Given the description of an element on the screen output the (x, y) to click on. 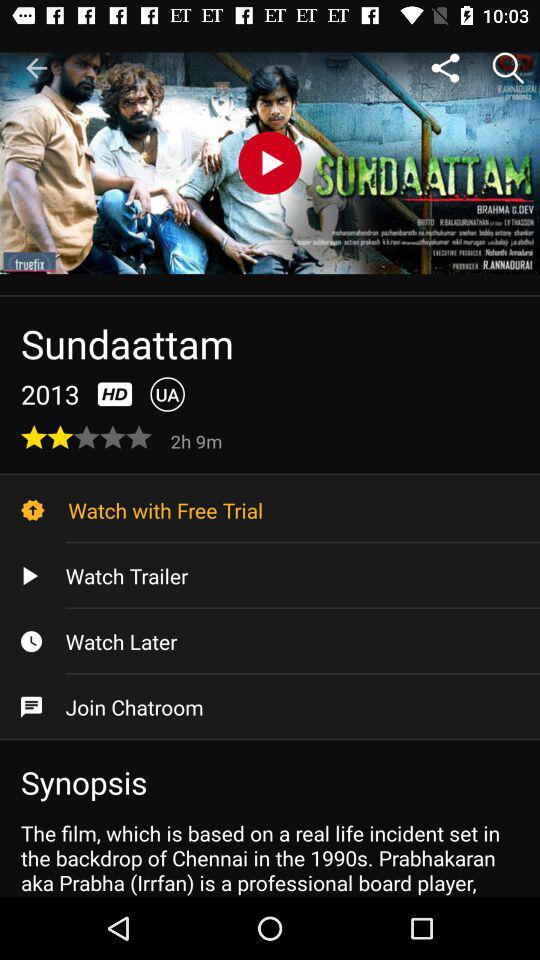
scroll to the watch trailer icon (270, 575)
